Given the description of an element on the screen output the (x, y) to click on. 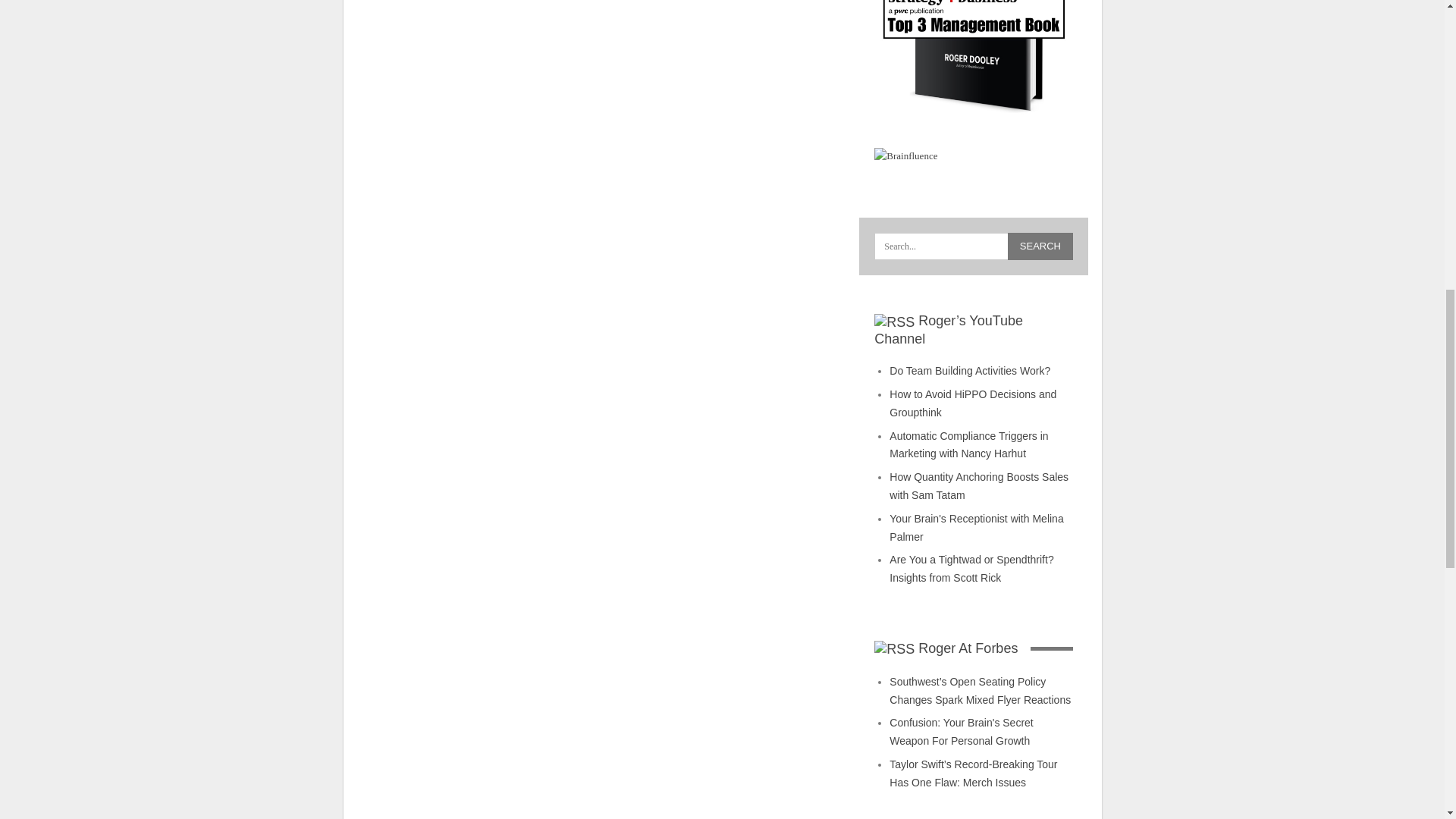
Search (1040, 246)
Search for: (974, 246)
Search (1040, 246)
